Given the description of an element on the screen output the (x, y) to click on. 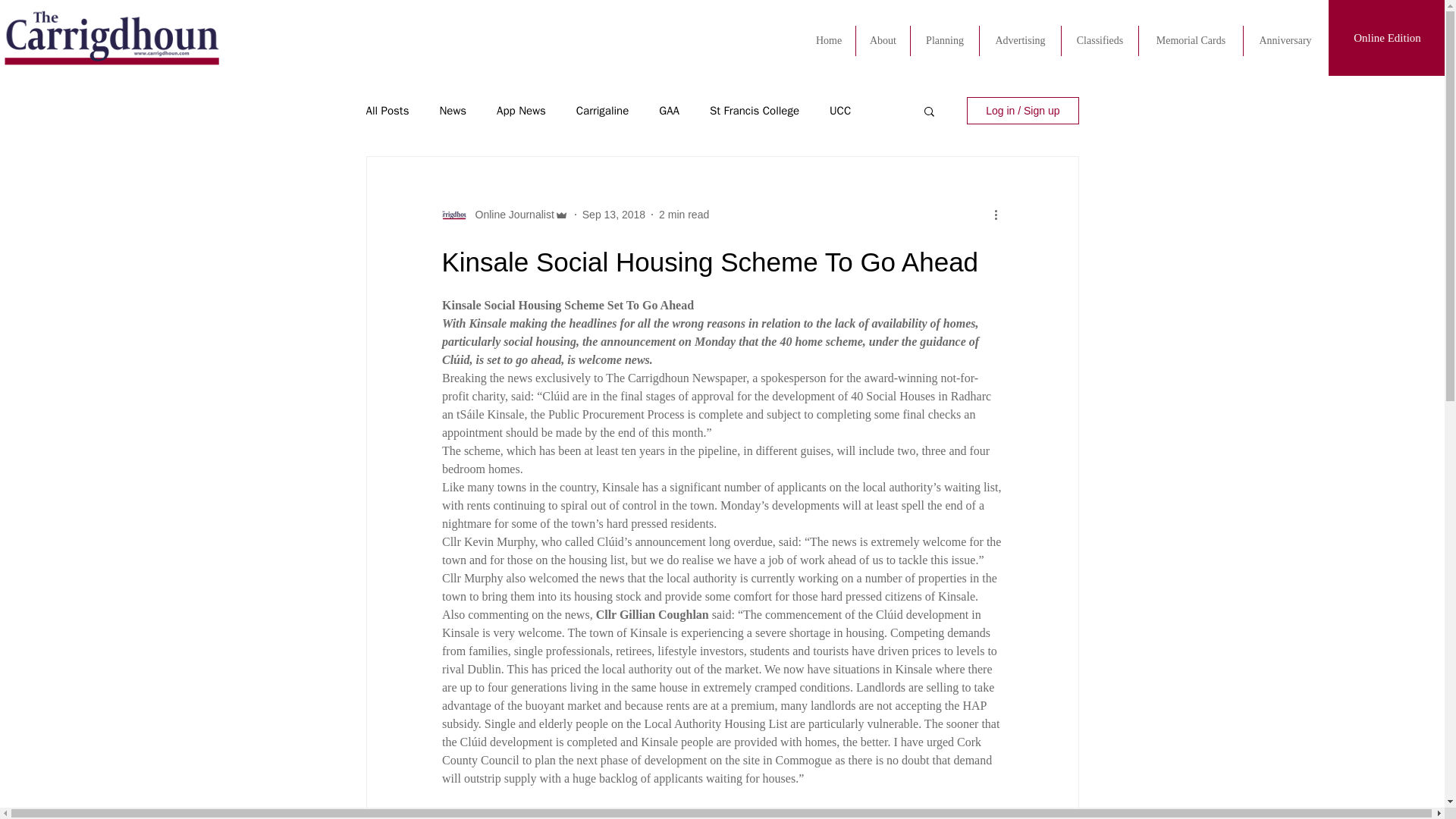
Home (829, 40)
About (883, 40)
Planning (944, 40)
GAA (669, 110)
Online Journalist (509, 213)
St Francis College (754, 110)
Anniversary (1284, 40)
News (452, 110)
Sep 13, 2018 (613, 214)
Memorial Cards (1190, 40)
